Given the description of an element on the screen output the (x, y) to click on. 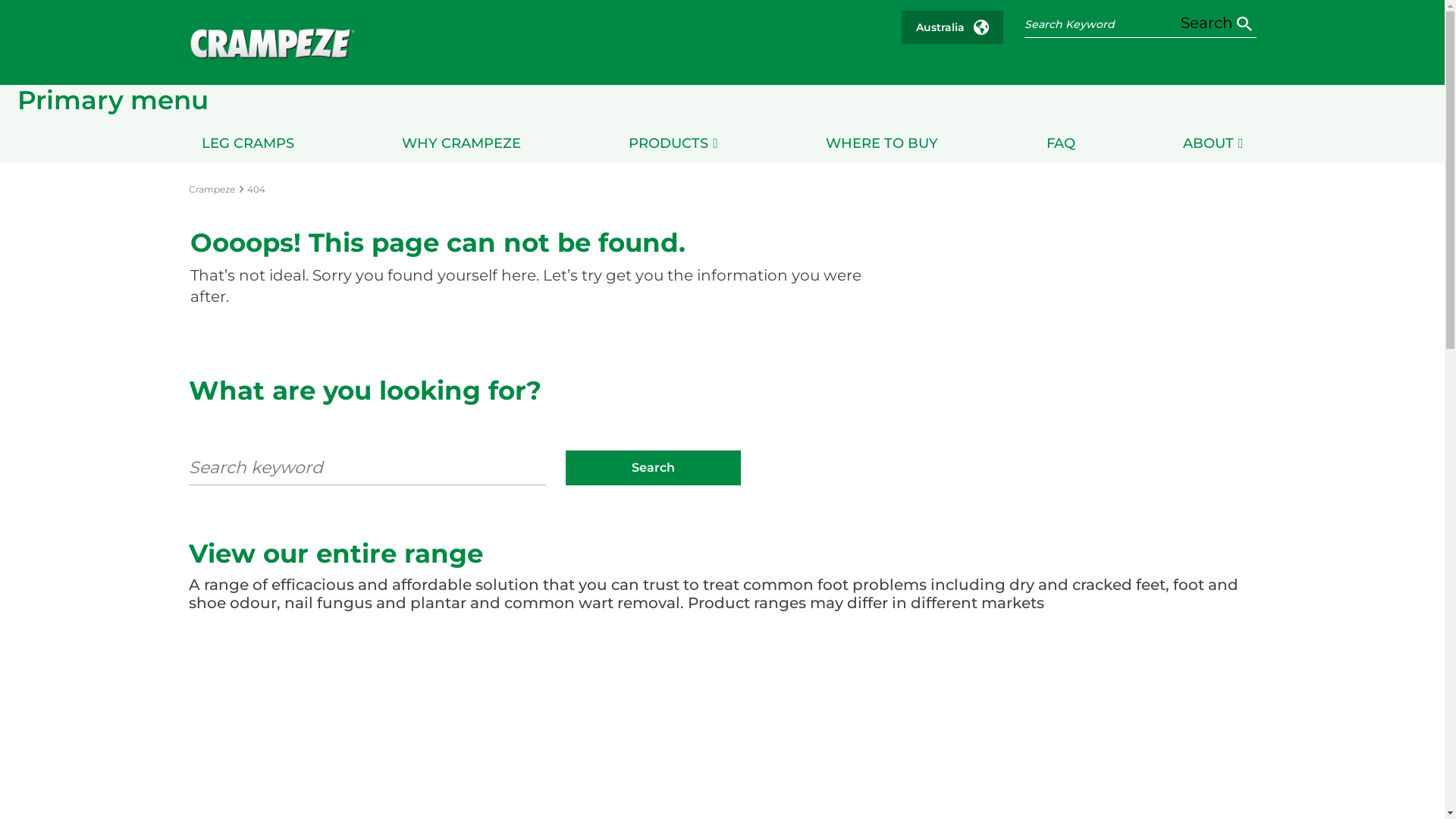
WHY CRAMPEZE Element type: text (460, 143)
Home page - Crampeze Element type: hover (271, 43)
Search Element type: text (652, 467)
PRODUCTS Element type: text (673, 143)
WHERE TO BUY Element type: text (881, 143)
Australia Element type: text (951, 26)
FAQ Element type: text (1060, 143)
Search Element type: text (1215, 22)
ABOUT Element type: text (1213, 143)
Crampeze Element type: text (212, 188)
Skip to content Element type: text (0, 0)
404 Element type: text (257, 188)
LEG CRAMPS Element type: text (247, 143)
